Given the description of an element on the screen output the (x, y) to click on. 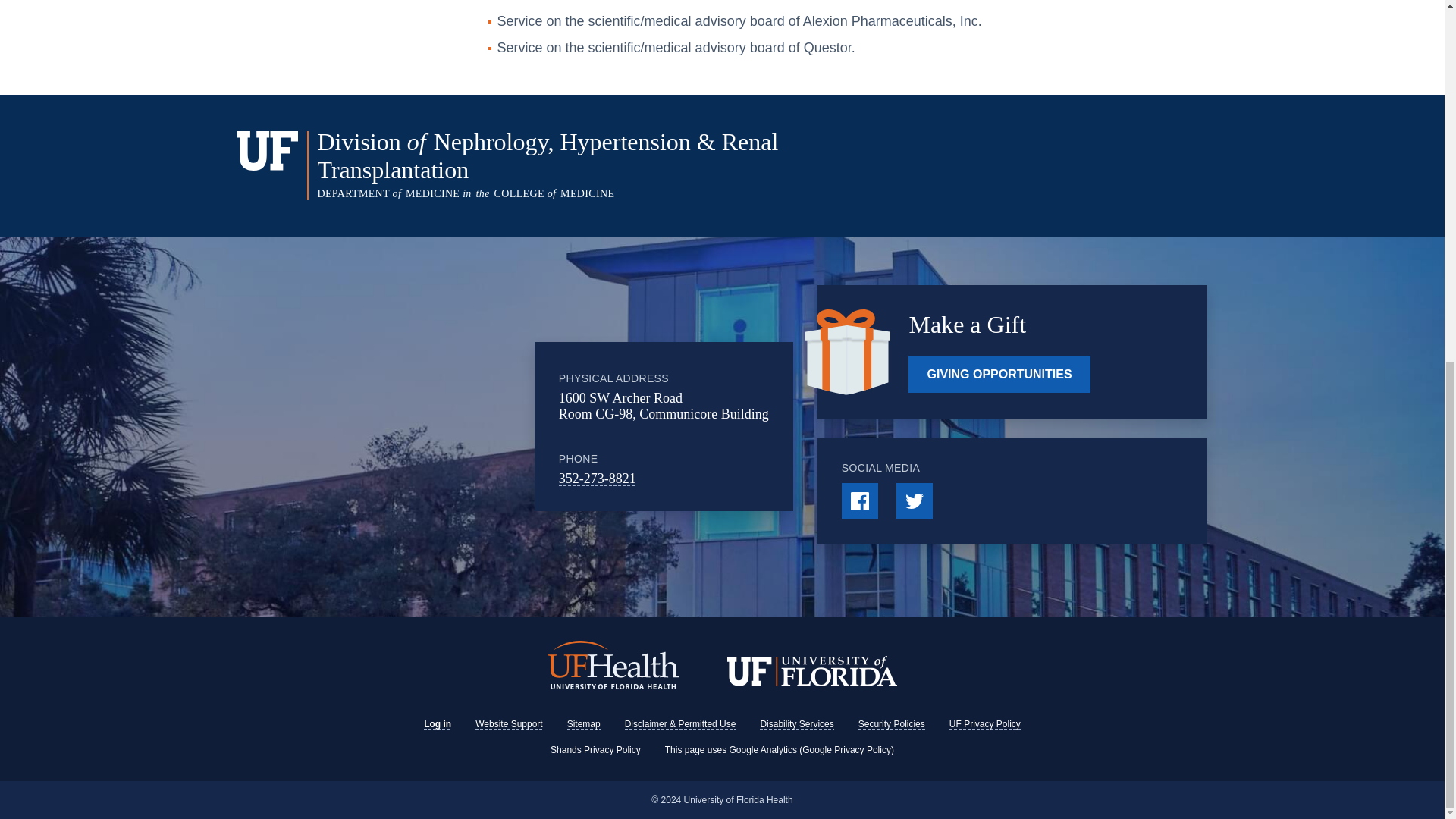
Log in (437, 724)
UF Privacy Policy (984, 724)
Google Maps Embed (432, 425)
Disability Services (796, 724)
352-273-8821 (597, 478)
Website Support (509, 724)
Shands Privacy Policy (595, 749)
Security Policies (891, 724)
Sitemap (583, 724)
